Given the description of an element on the screen output the (x, y) to click on. 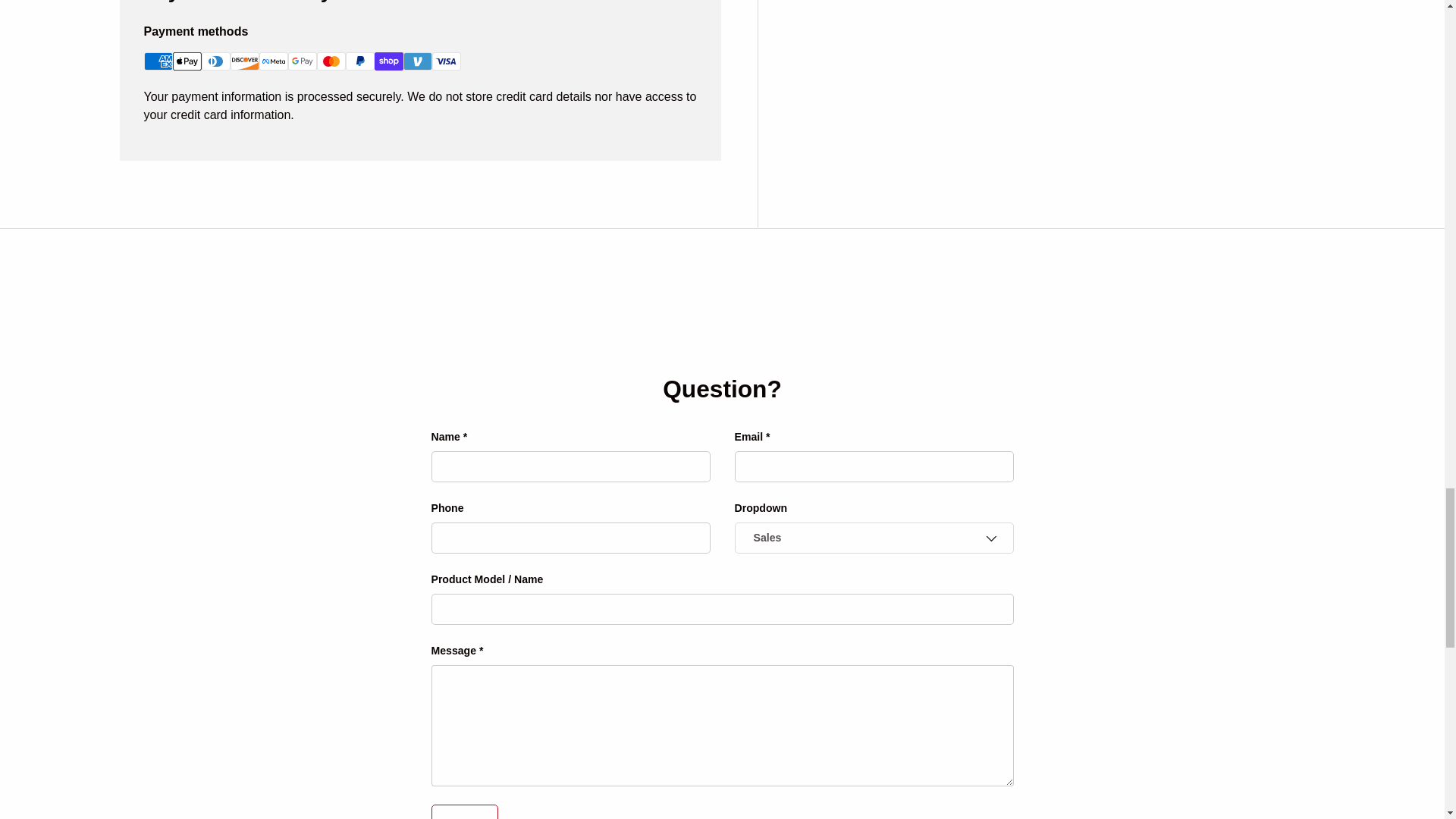
PayPal (360, 61)
Google Pay (302, 61)
Meta Pay (273, 61)
Mastercard (331, 61)
Apple Pay (187, 61)
Discover (244, 61)
Diners Club (216, 61)
American Express (158, 61)
